Given the description of an element on the screen output the (x, y) to click on. 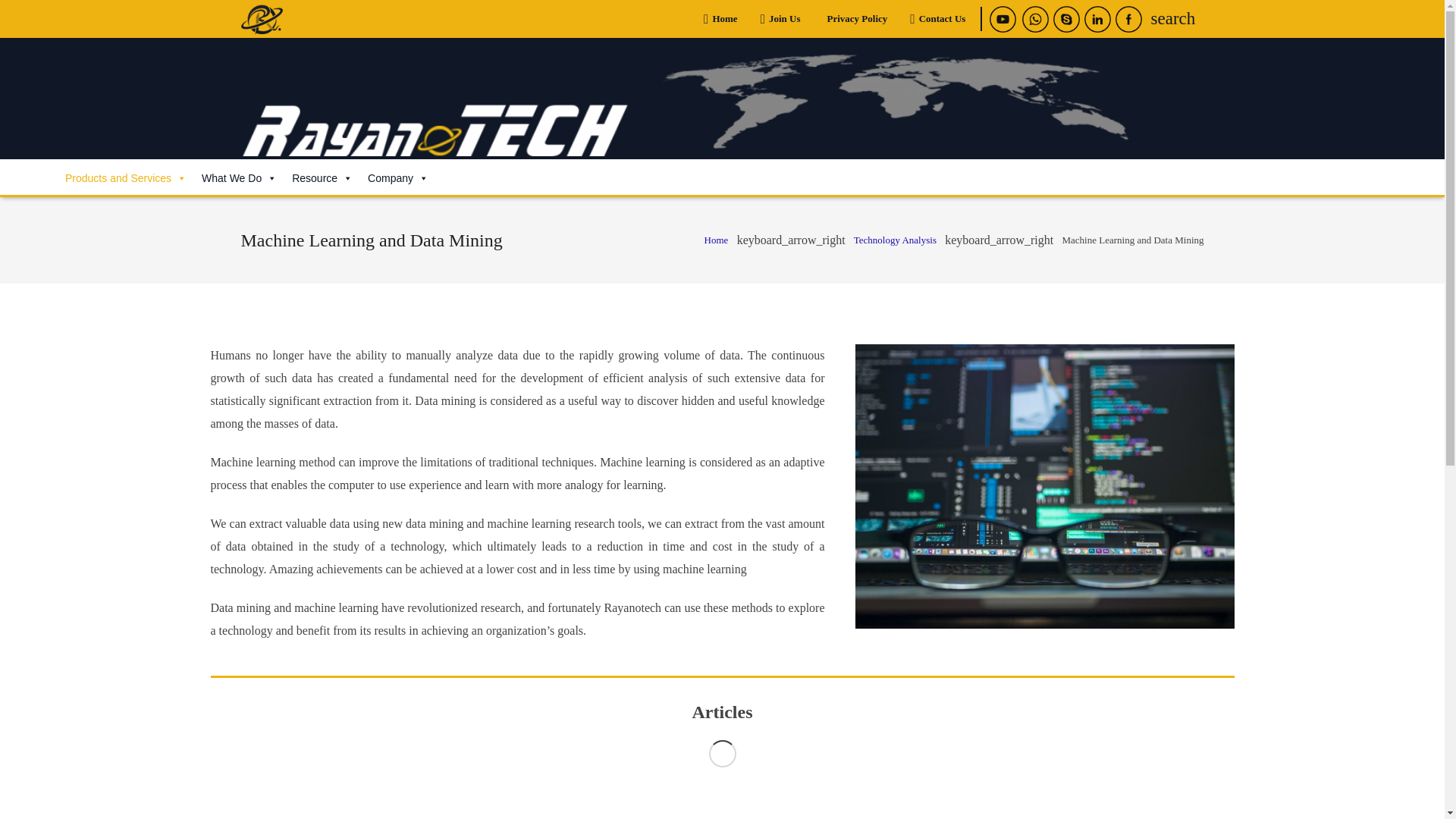
Contact Us (937, 18)
Join Us (780, 18)
Home (720, 18)
What We Do (238, 177)
Products and Services (125, 177)
Privacy Policy (856, 18)
